Given the description of an element on the screen output the (x, y) to click on. 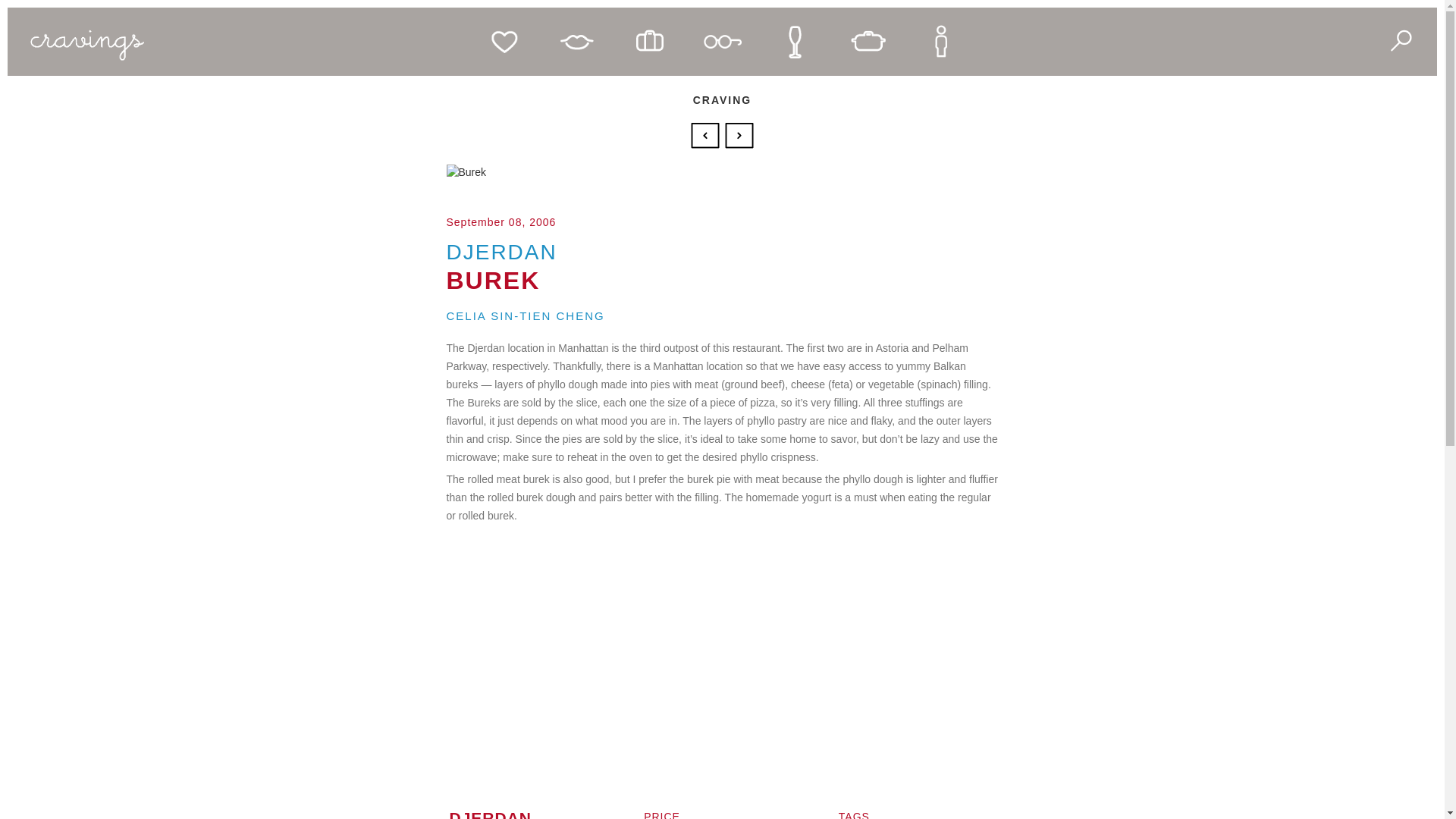
CELIA SIN-TIEN CHENG (525, 315)
Previous: Flying Fish Cutters (706, 133)
Next: Pork BBQ Meal (738, 133)
